Given the description of an element on the screen output the (x, y) to click on. 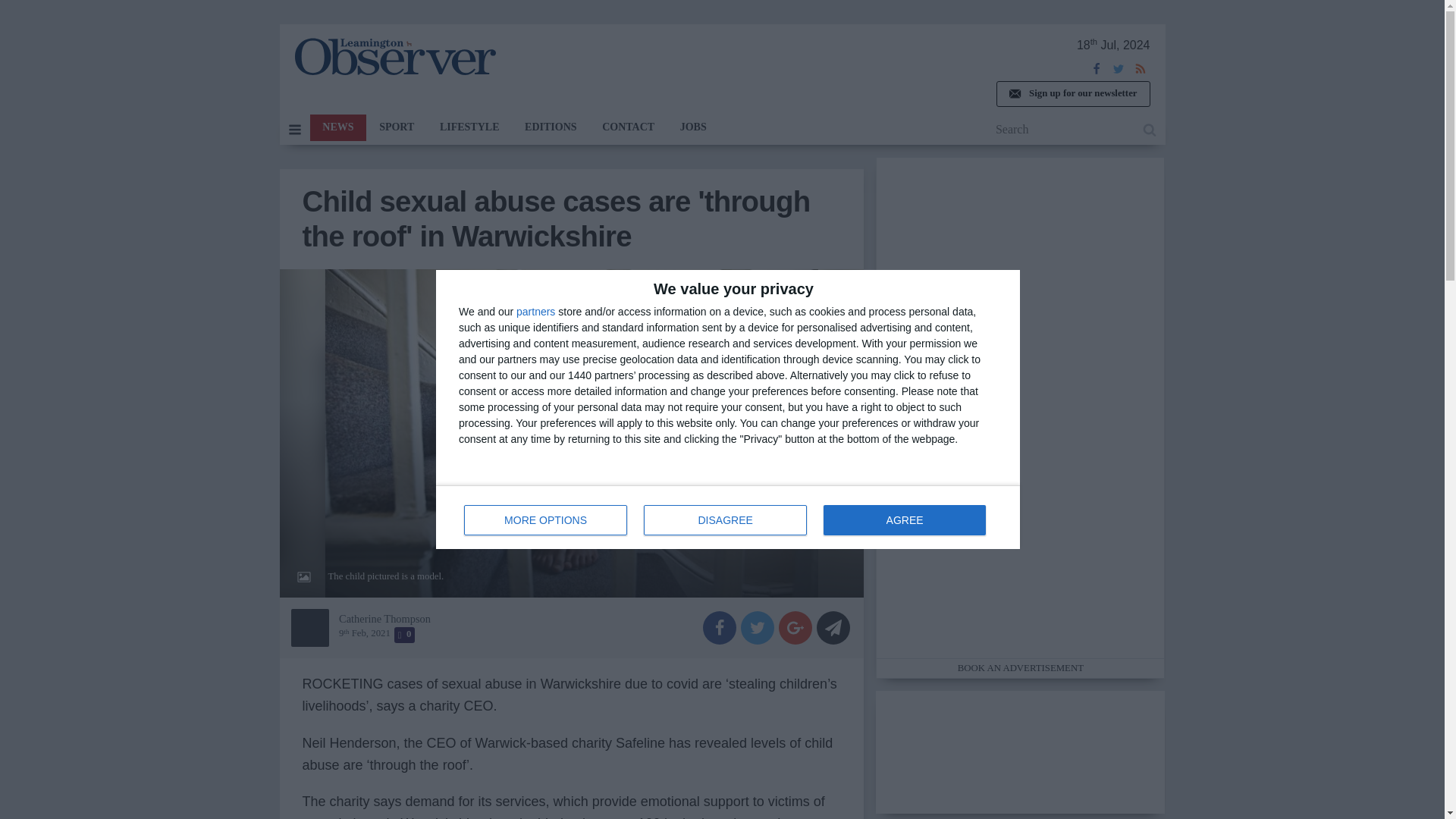
The Leamington Observer (394, 55)
SPORT (396, 127)
AGREE (904, 520)
MORE OPTIONS (545, 520)
partners (535, 311)
EDITIONS (727, 516)
LIFESTYLE (550, 127)
JOBS (469, 127)
  Sign up for our newsletter (692, 127)
CONTACT (1072, 94)
NEWS (627, 127)
DISAGREE (337, 127)
